Given the description of an element on the screen output the (x, y) to click on. 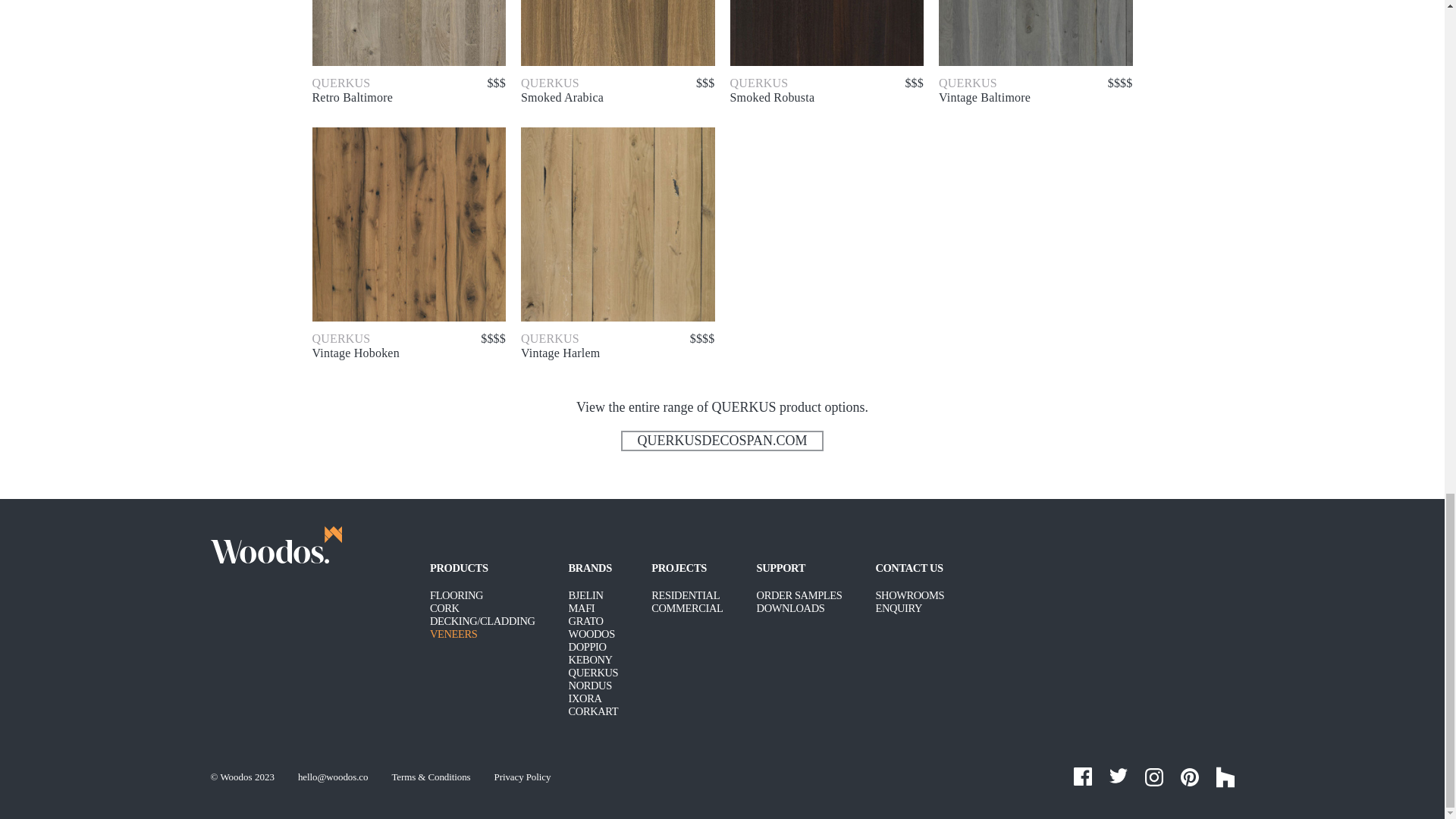
Vintage Baltimore (1035, 33)
Retro Baltimore (409, 33)
Smoked Arabica (617, 33)
Smoked Robusta (826, 33)
